Given the description of an element on the screen output the (x, y) to click on. 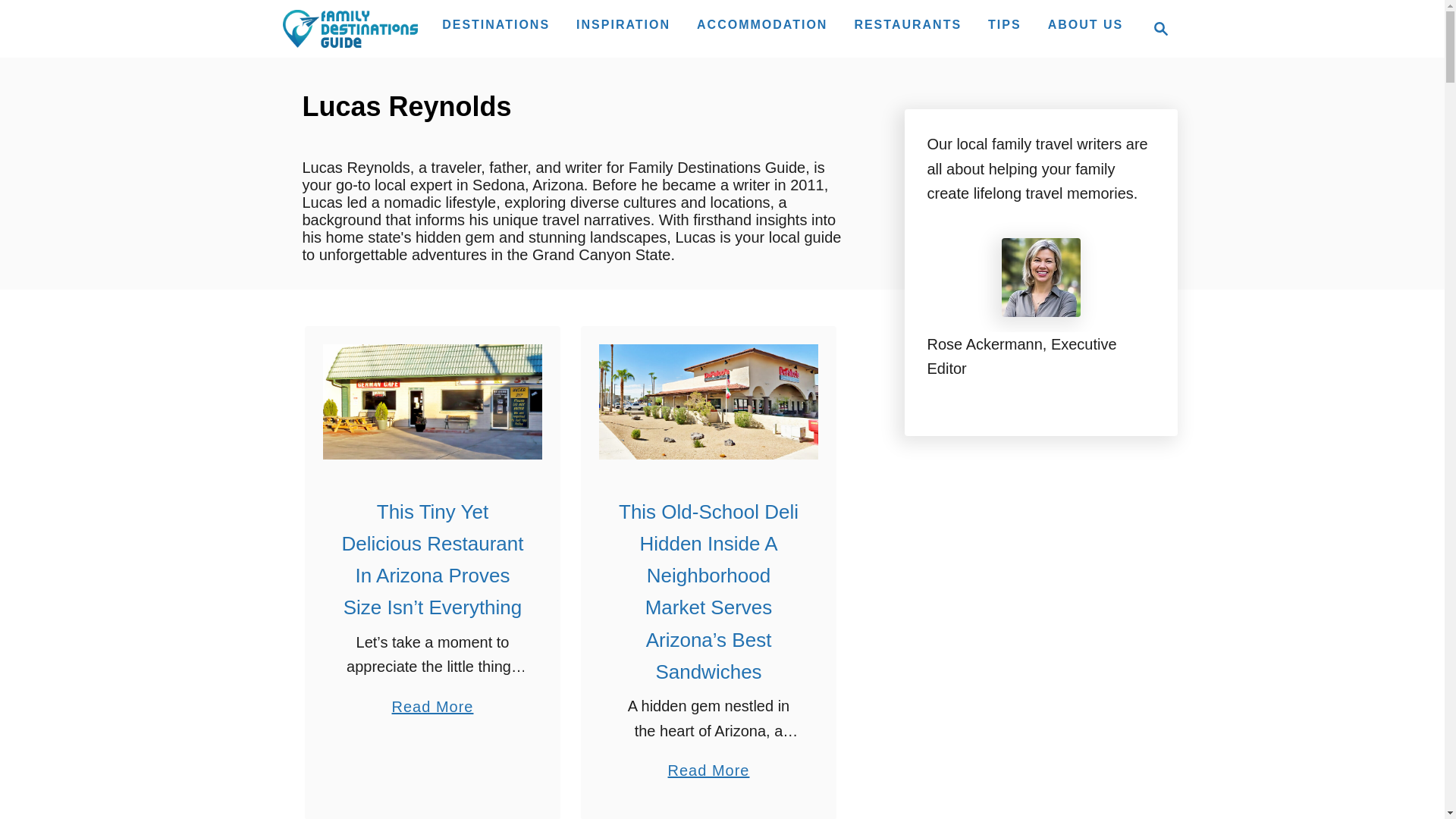
INSPIRATION (623, 24)
TIPS (1004, 24)
ABOUT US (1155, 28)
DESTINATIONS (1086, 24)
RESTAURANTS (495, 24)
ACCOMMODATION (907, 24)
Family Destinations Guide (761, 24)
Magnifying Glass (349, 28)
